Given the description of an element on the screen output the (x, y) to click on. 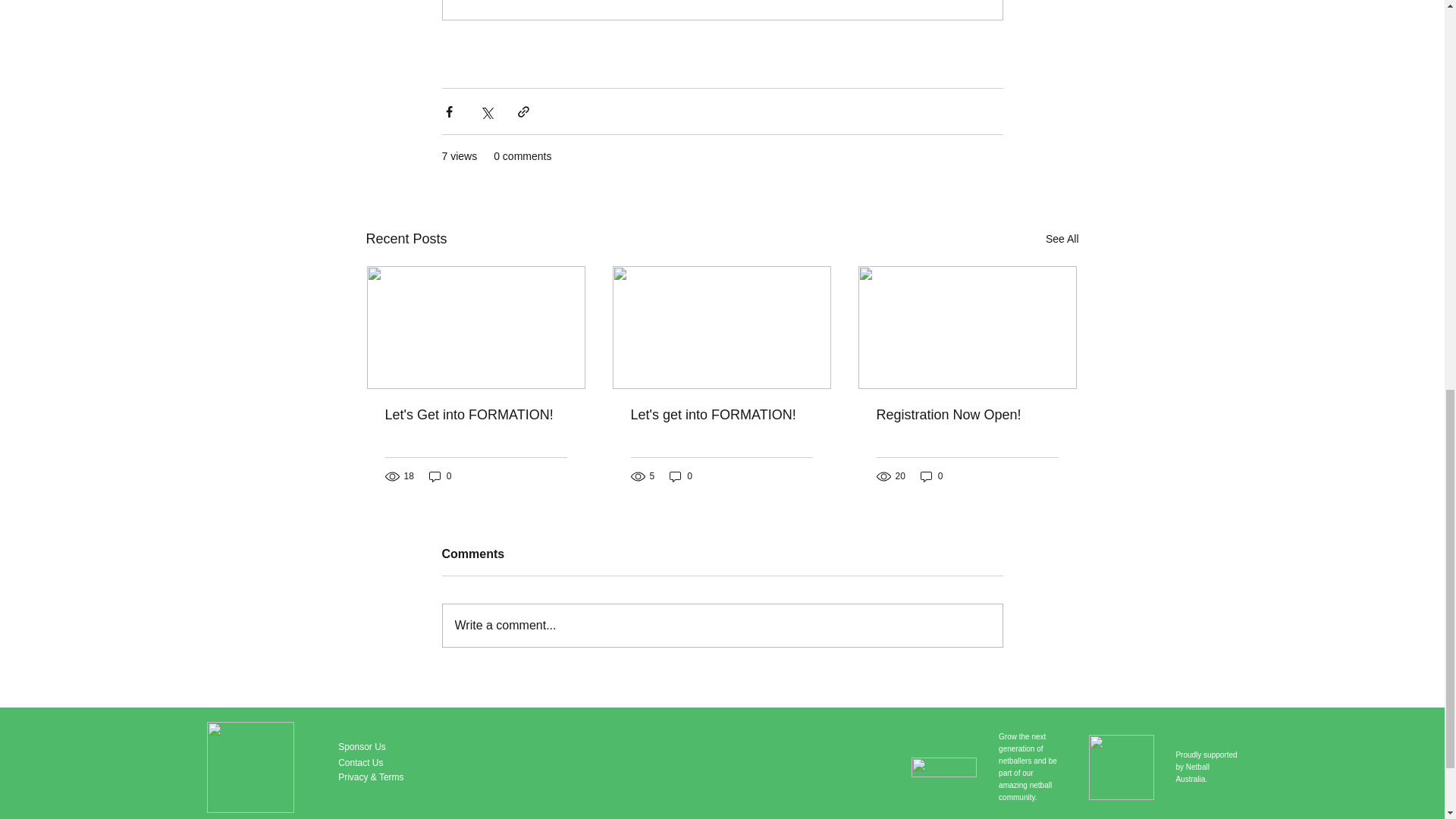
0 (931, 476)
Let's get into FORMATION! (721, 415)
Write a comment... (722, 625)
0 (681, 476)
Let's Get into FORMATION! (476, 415)
Sponsor Us (361, 747)
0 (440, 476)
Registration Now Open! (967, 415)
Contact Us (359, 762)
Proudly supported by Netball Australia. (1205, 766)
See All (1061, 239)
